Given the description of an element on the screen output the (x, y) to click on. 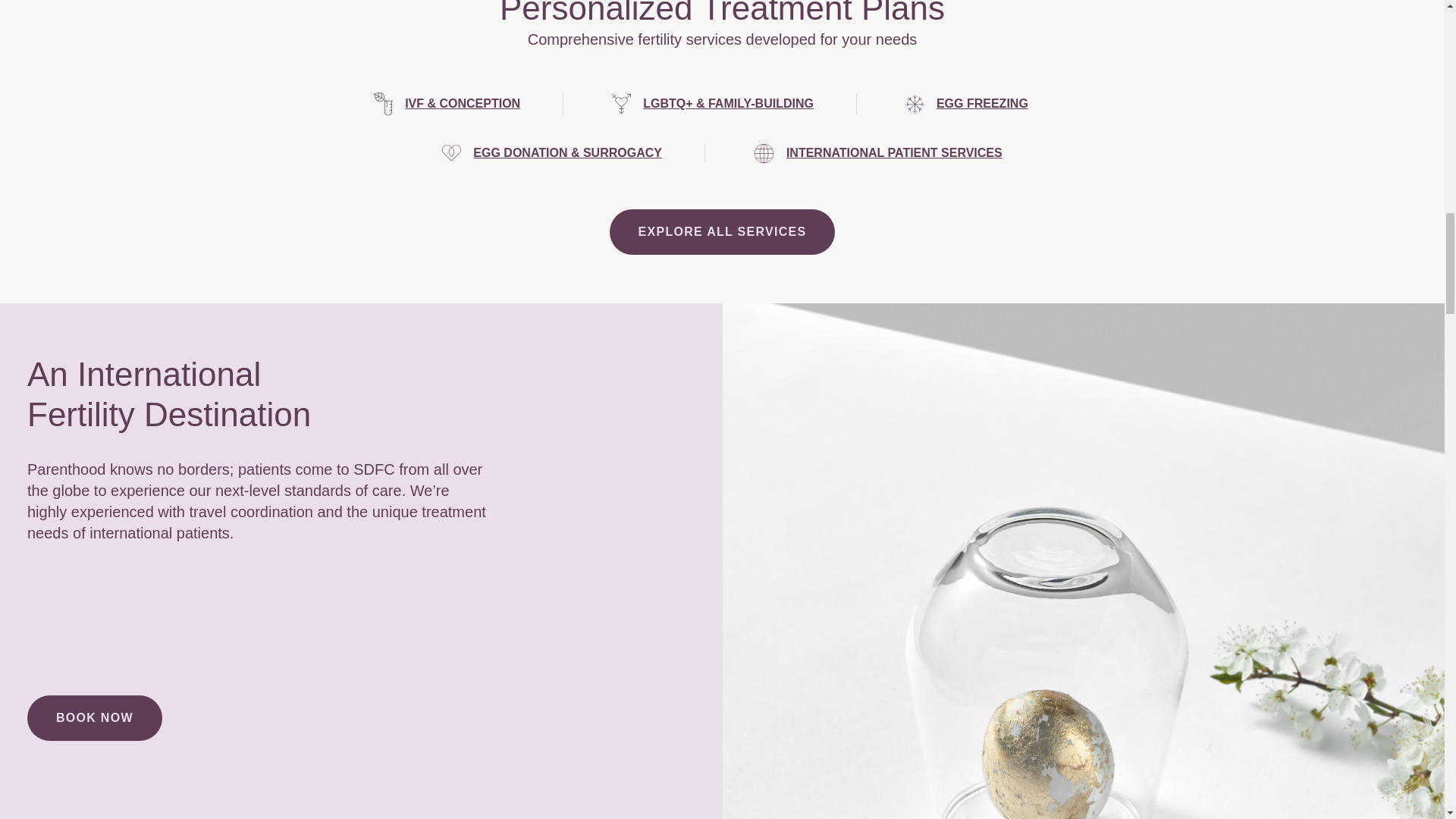
BOOK NOW (94, 718)
EGG FREEZING (981, 104)
EXPLORE ALL SERVICES (722, 231)
INTERNATIONAL PATIENT SERVICES (894, 153)
